Given the description of an element on the screen output the (x, y) to click on. 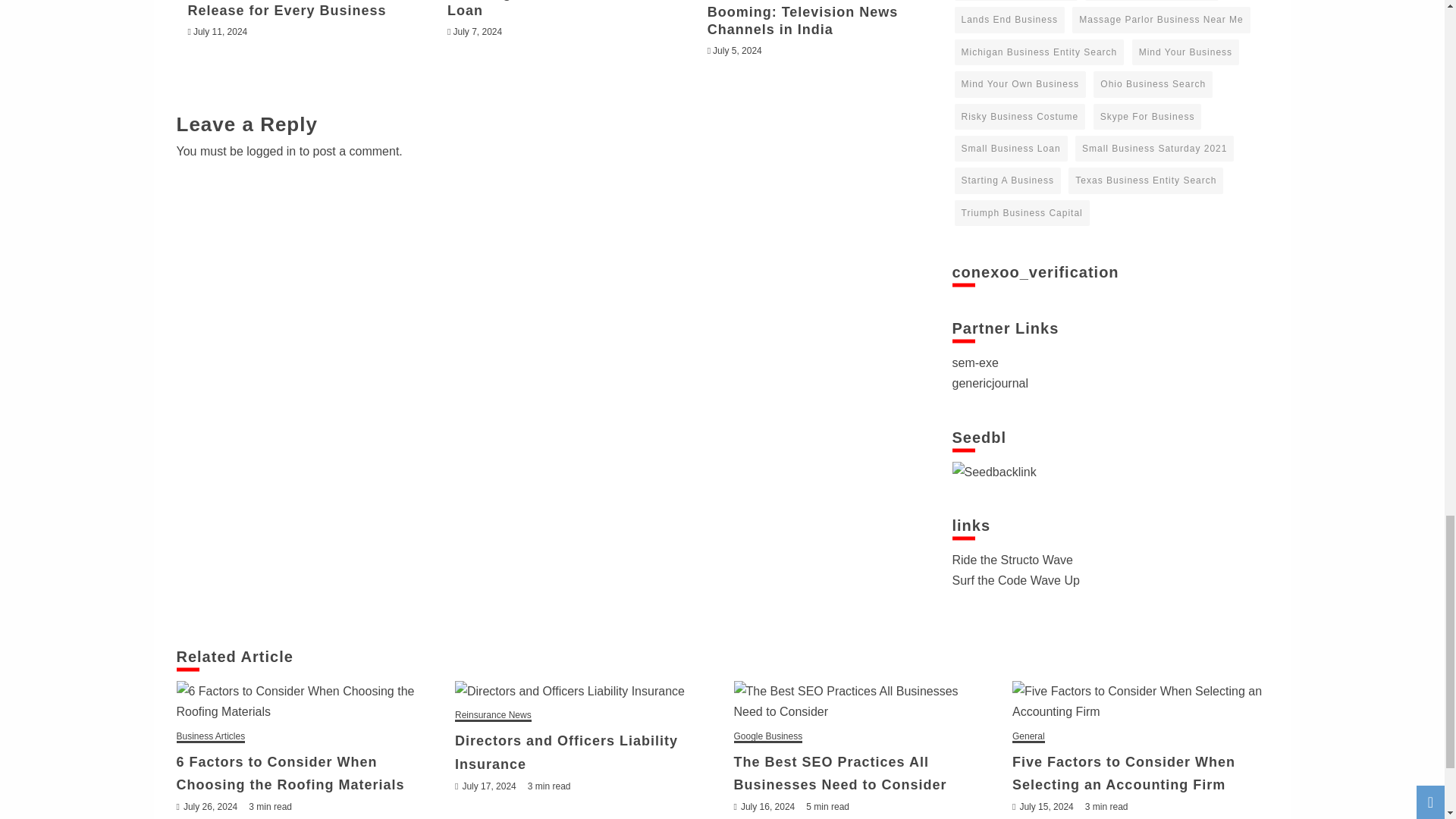
Seedbacklink (994, 471)
Directors and Officers Liability Insurance (582, 690)
6 Factors to Consider When Choosing the Roofing Materials (304, 700)
Securing a Small Business Loan (543, 9)
7 Benefits of a Press Release for Every Business (287, 9)
July 11, 2024 (220, 31)
